Given the description of an element on the screen output the (x, y) to click on. 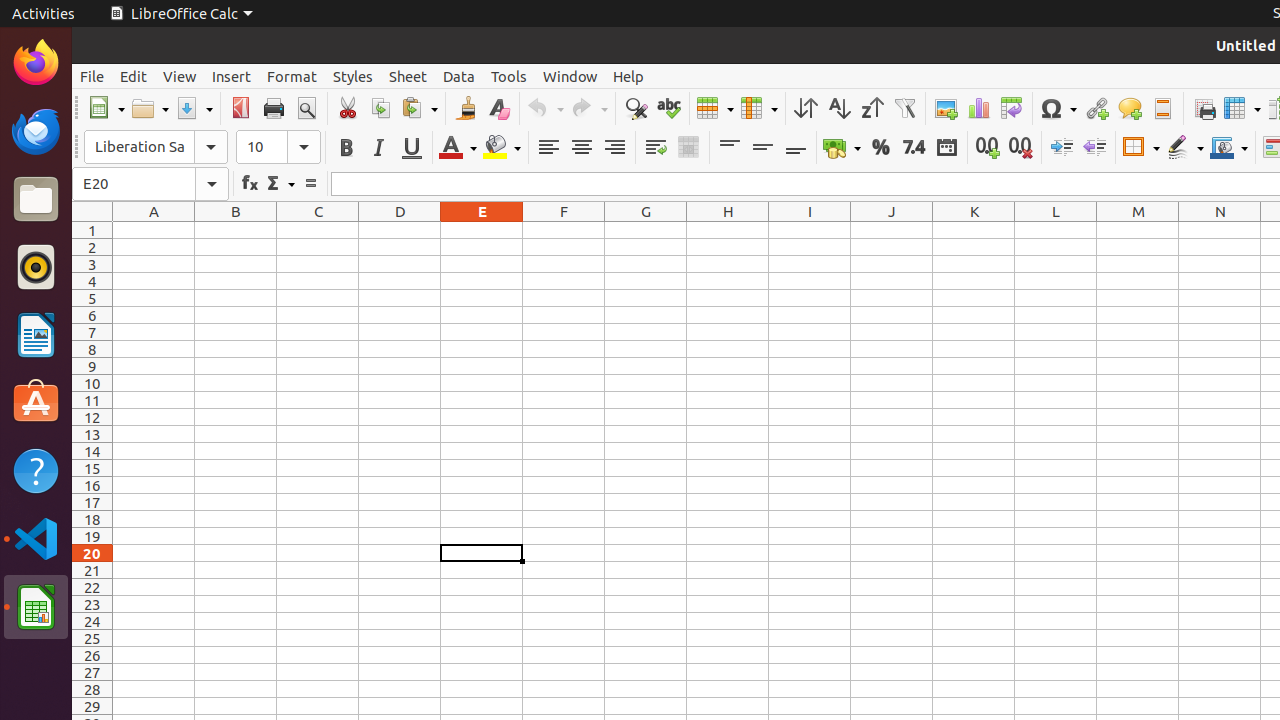
Align Left Element type: push-button (548, 147)
Date Element type: push-button (946, 147)
Window Element type: menu (570, 76)
I1 Element type: table-cell (810, 230)
Tools Element type: menu (509, 76)
